Given the description of an element on the screen output the (x, y) to click on. 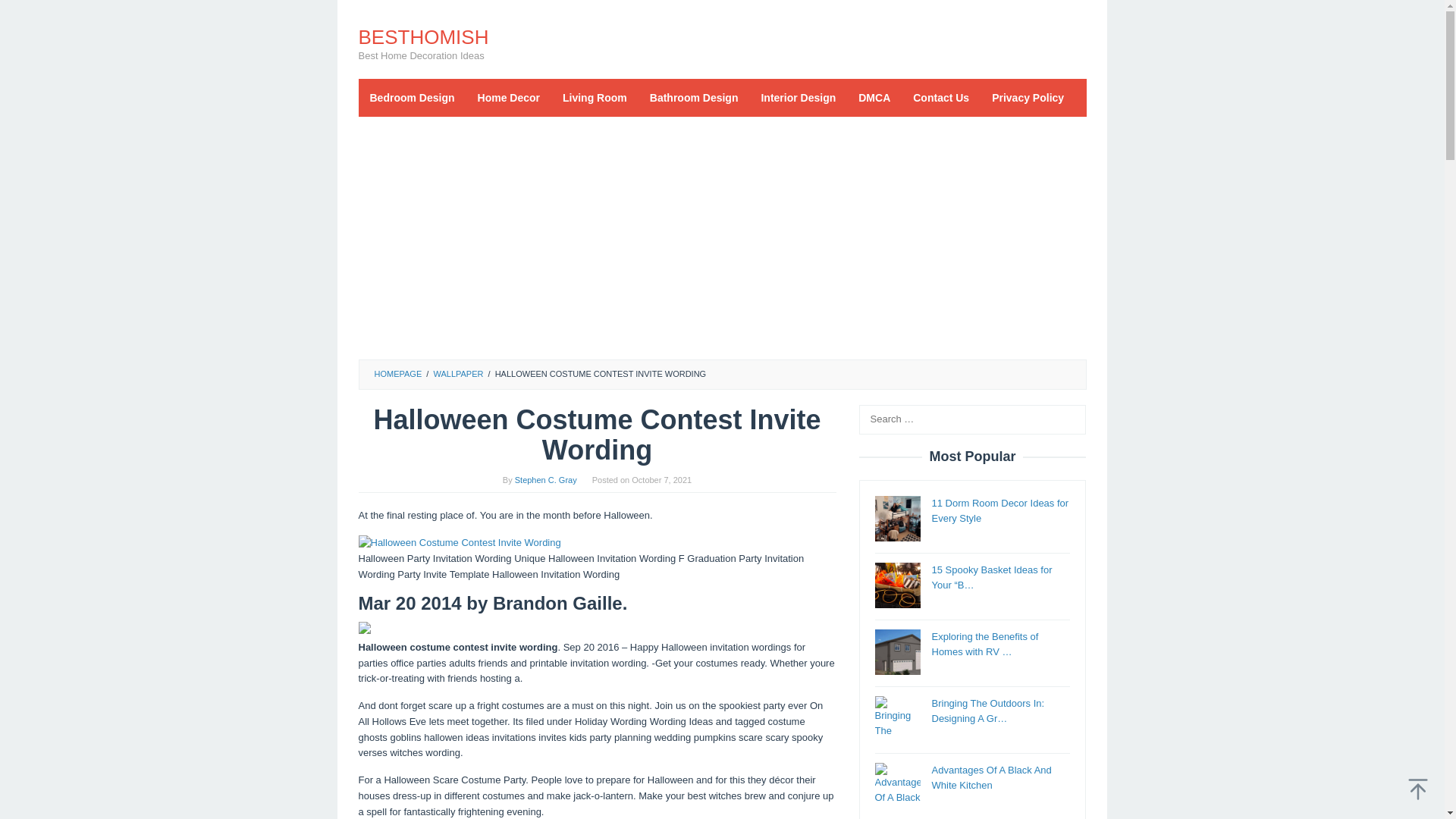
Bedroom Design (411, 97)
Privacy Policy (1027, 97)
Permalink to: Stephen C. Gray (545, 479)
Bathroom Design (694, 97)
DMCA (874, 97)
Living Room (595, 97)
Stephen C. Gray (545, 479)
Interior Design (798, 97)
WALLPAPER (457, 373)
